Given the description of an element on the screen output the (x, y) to click on. 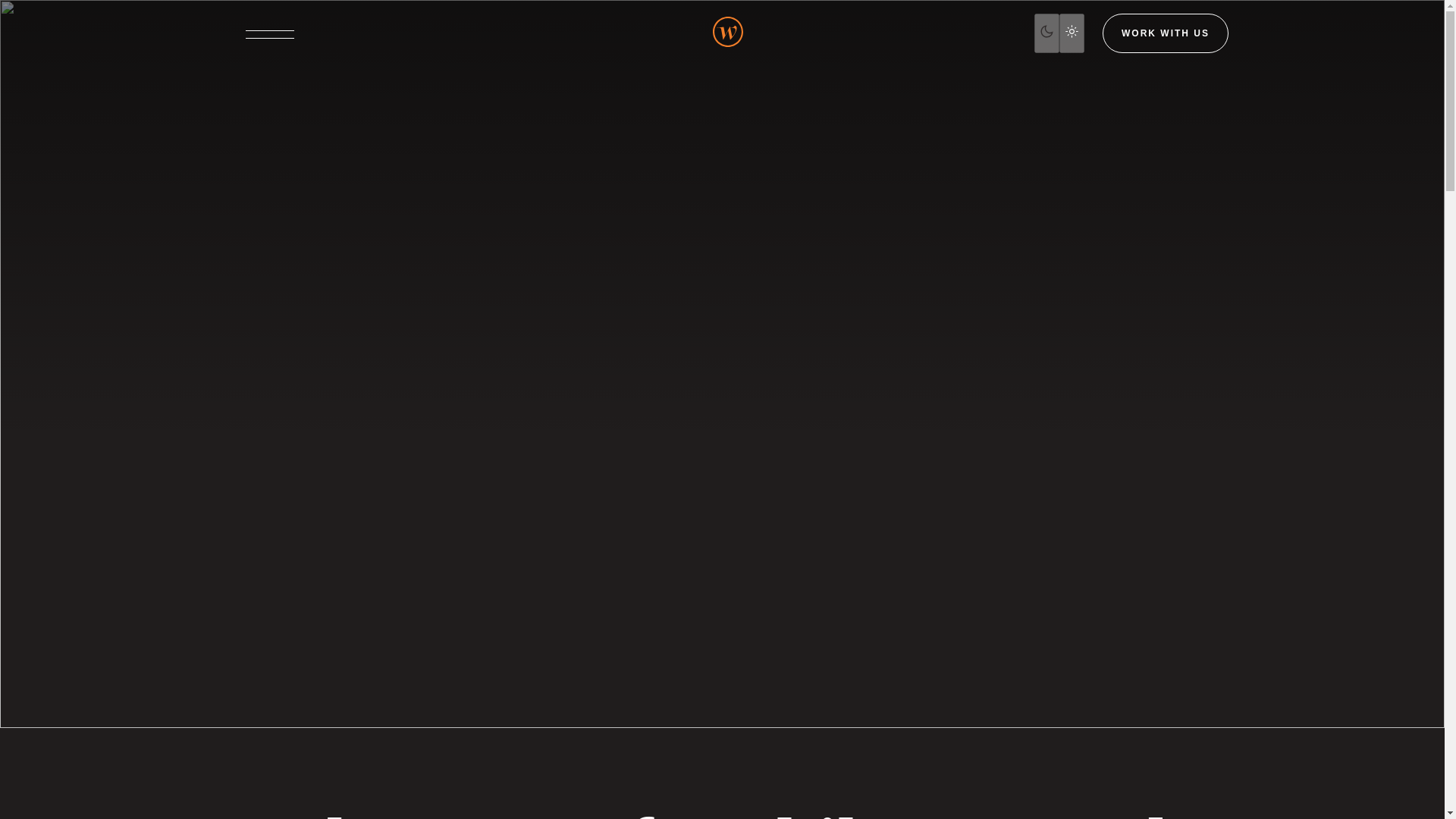
Wallop - Go Back to Homepage (727, 32)
Go to homepage (727, 32)
WORK WITH US (1165, 33)
